Given the description of an element on the screen output the (x, y) to click on. 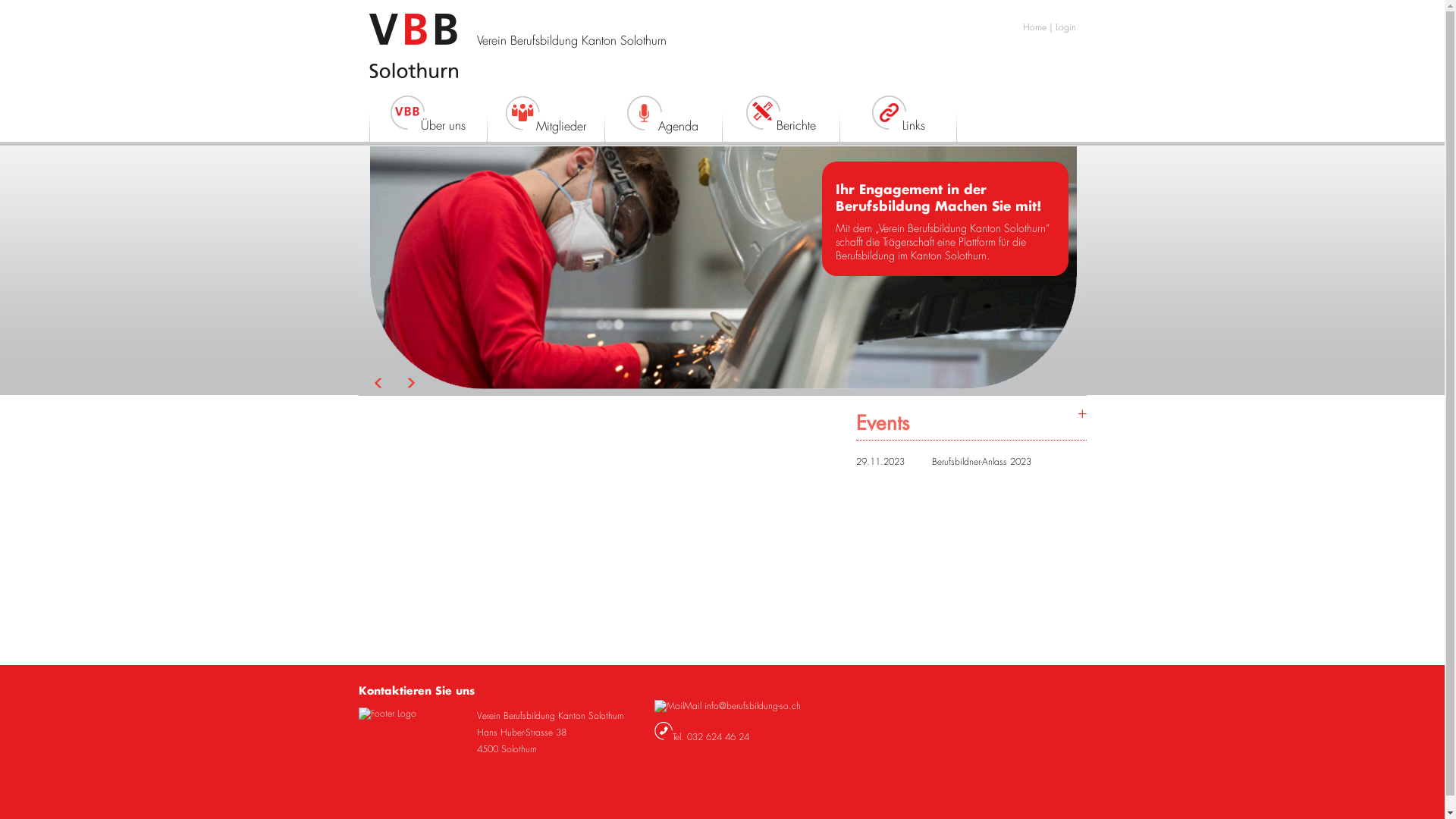
info@berufsbildung-so.ch Element type: text (751, 705)
Mitglieder Element type: hover (522, 112)
Mitglieder Element type: text (545, 120)
Berichte Element type: text (780, 120)
Links Element type: hover (887, 112)
Events Element type: text (970, 422)
Berichte Element type: hover (761, 112)
Links Element type: text (897, 120)
| Login Element type: text (1062, 27)
Home Element type: text (1033, 27)
Agenda Element type: hover (644, 112)
Agenda Element type: text (662, 120)
